Given the description of an element on the screen output the (x, y) to click on. 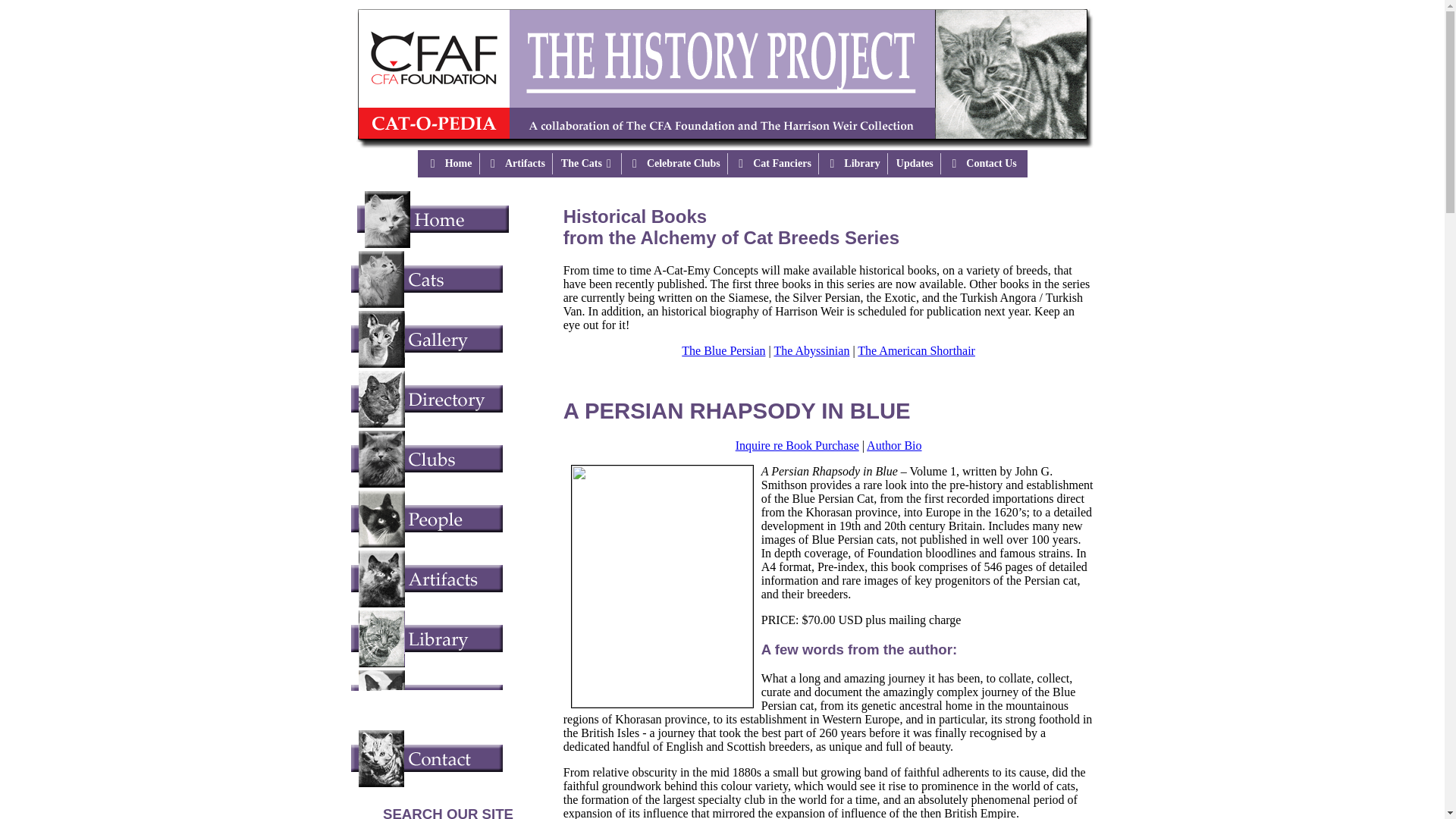
Inquire re Book Purchase (797, 445)
The Blue Persian (723, 350)
Author Bio (893, 445)
A PERSIAN RHAPSODY IN BLUE (737, 410)
The Abyssinian (810, 350)
The American Shorthair (916, 350)
